Given the description of an element on the screen output the (x, y) to click on. 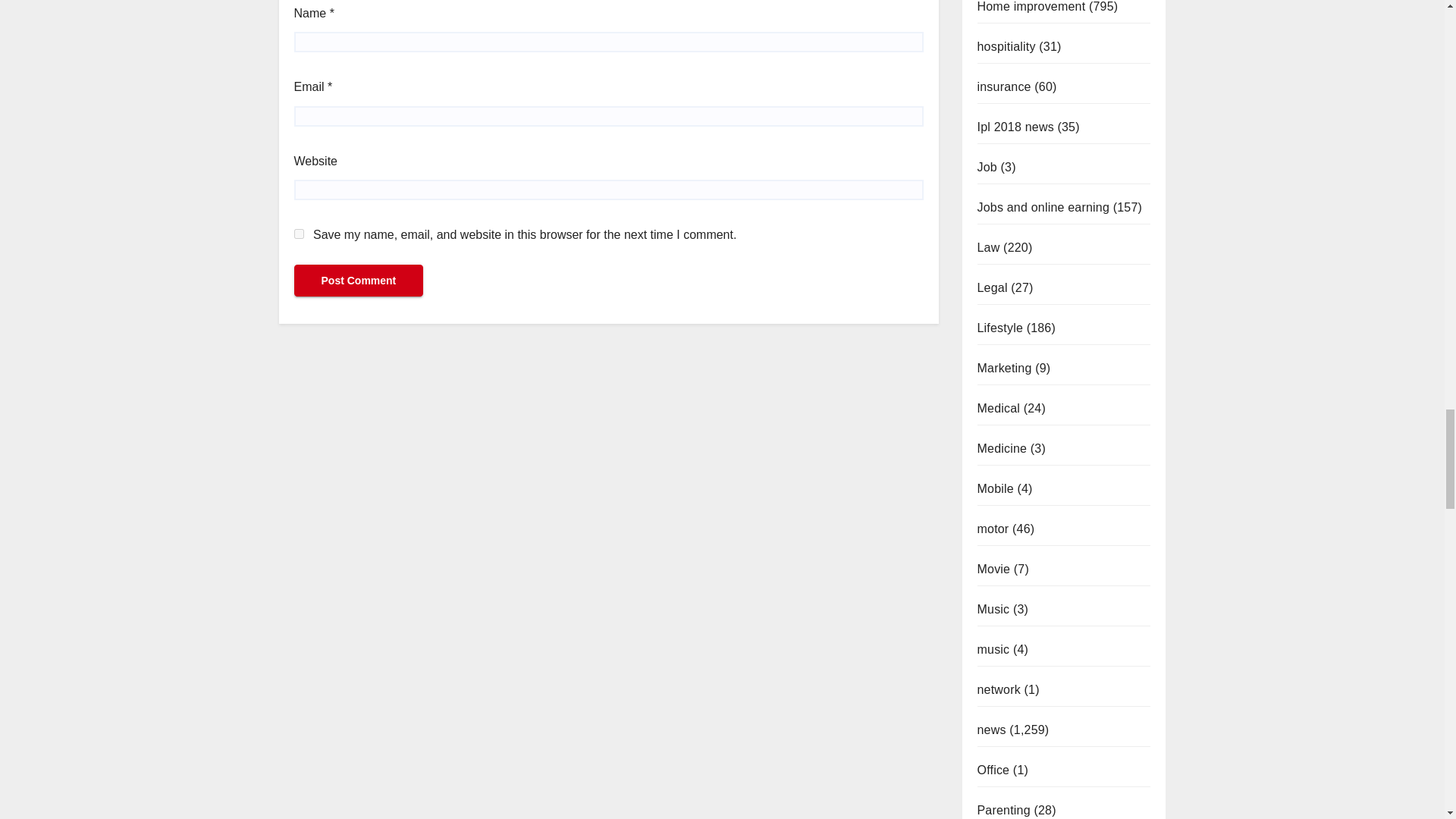
Post Comment (358, 280)
yes (299, 234)
